Given the description of an element on the screen output the (x, y) to click on. 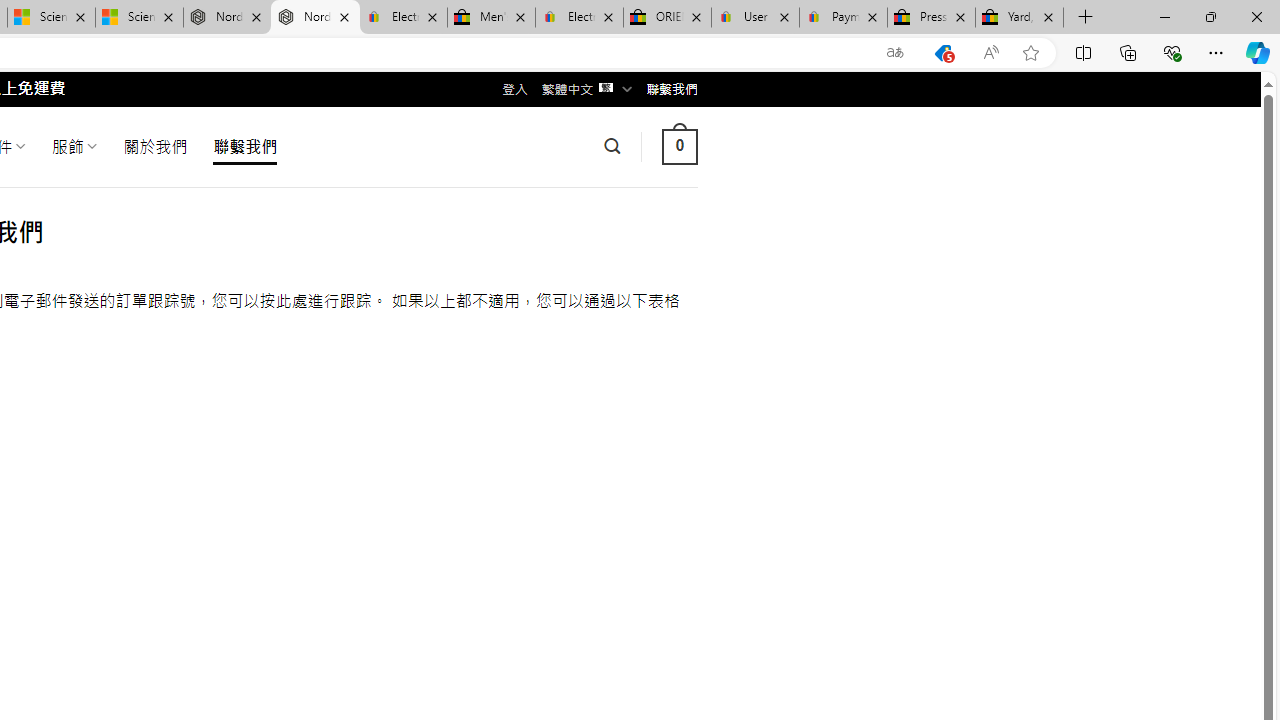
 0  (679, 146)
